Given the description of an element on the screen output the (x, y) to click on. 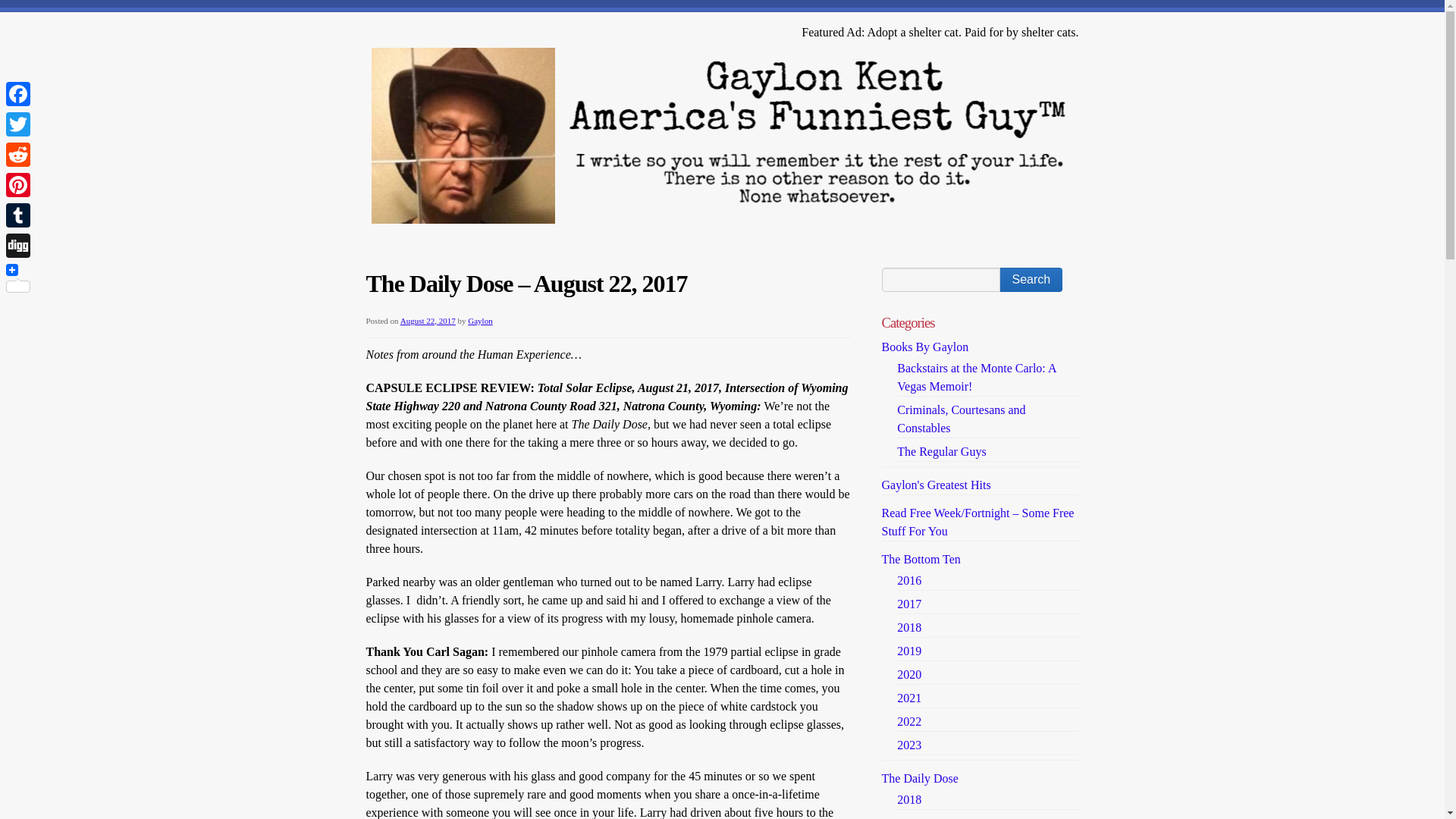
The Daily Dose (919, 778)
2020 (908, 674)
Search (1030, 279)
2021 (908, 697)
August 22, 2017 (427, 320)
View all posts by Gaylon (479, 320)
Gaylon's Greatest Hits (935, 484)
Twitter (17, 123)
The Regular Guys (940, 451)
Facebook (17, 93)
2019 (908, 650)
07:40 (427, 320)
2018 (908, 799)
Pinterest (17, 184)
Gaylon (479, 320)
